Given the description of an element on the screen output the (x, y) to click on. 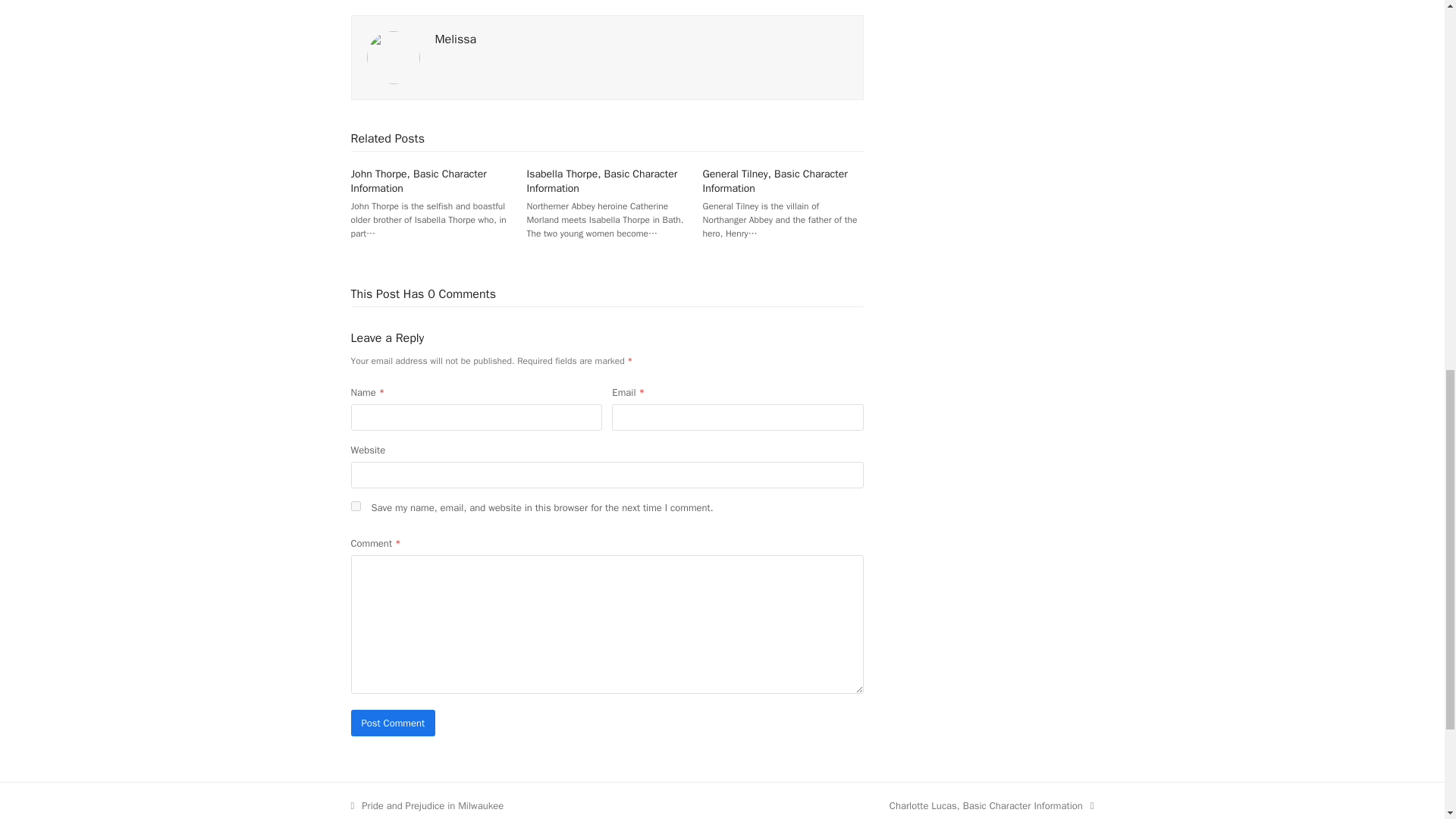
Visit Author Page (456, 38)
Visit Author Page (393, 56)
General Tilney, Basic Character Information (775, 180)
Melissa (426, 805)
John Thorpe, Basic Character Information (456, 38)
Post Comment (418, 180)
yes (392, 723)
Post Comment (991, 805)
